Given the description of an element on the screen output the (x, y) to click on. 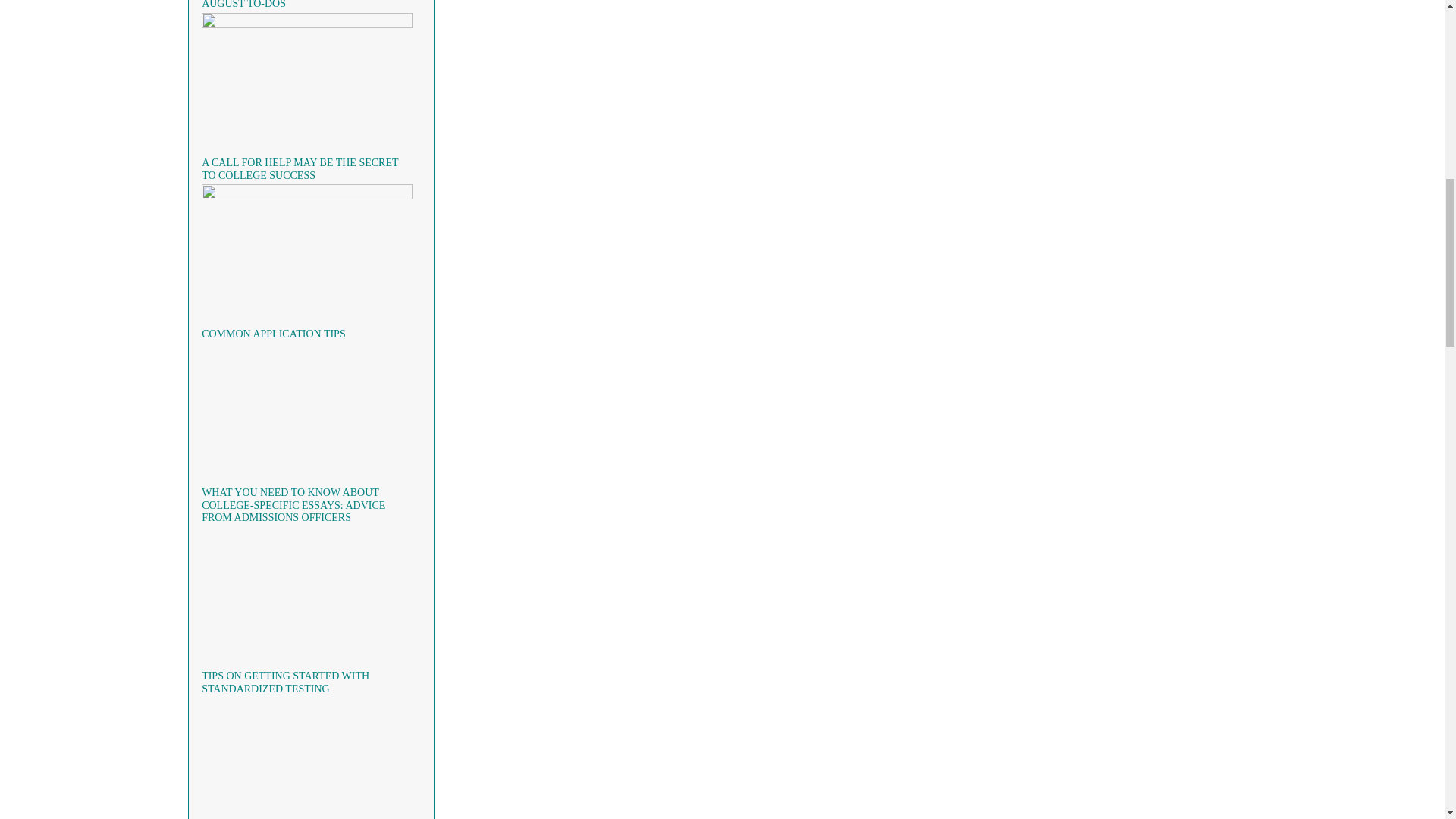
A CALL FOR HELP MAY BE THE SECRET TO COLLEGE SUCCESS (299, 168)
COMMON APPLICATION TIPS (274, 333)
AUGUST TO-DOS (243, 4)
